Given the description of an element on the screen output the (x, y) to click on. 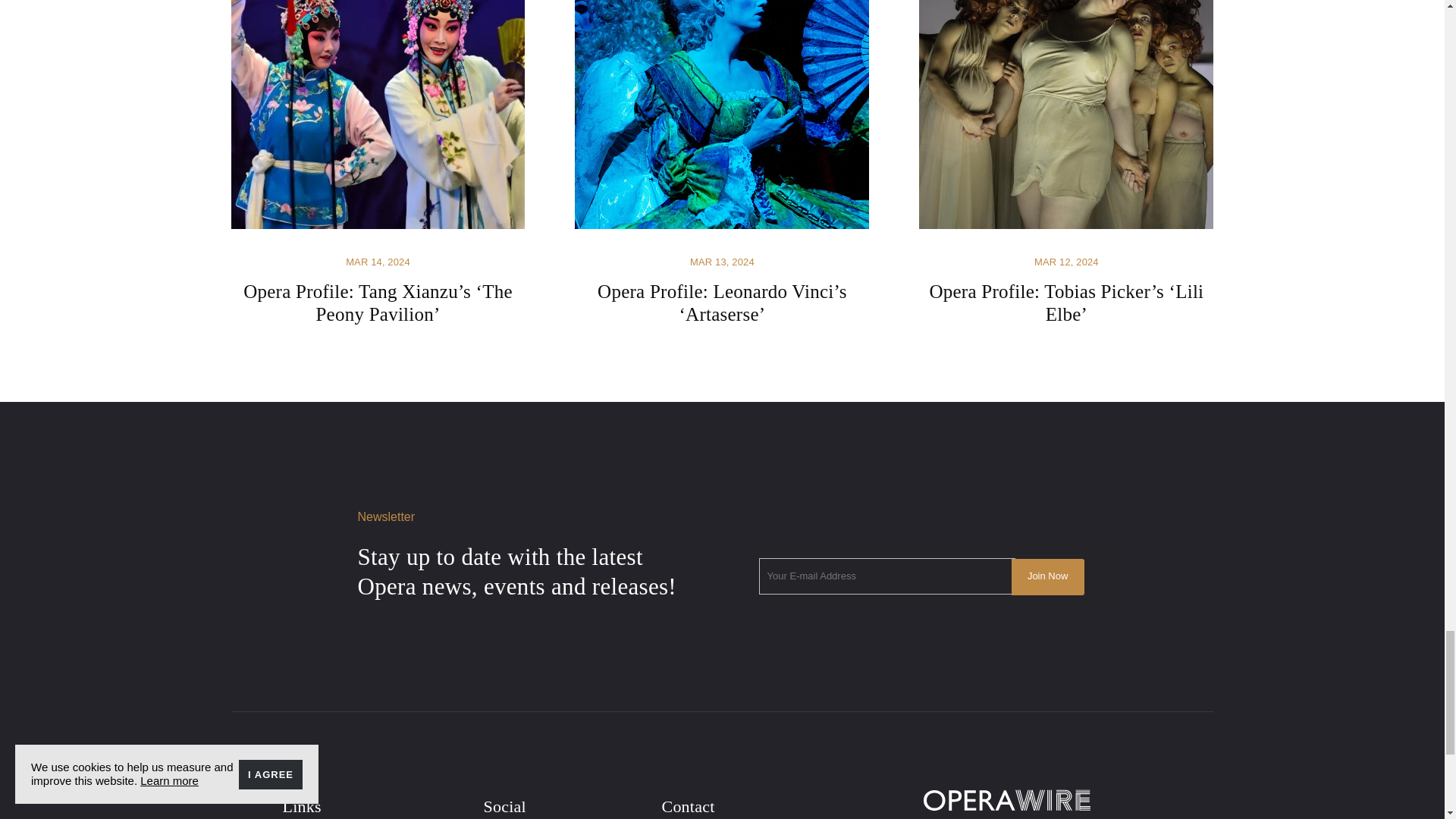
Join Now (1047, 576)
